Given the description of an element on the screen output the (x, y) to click on. 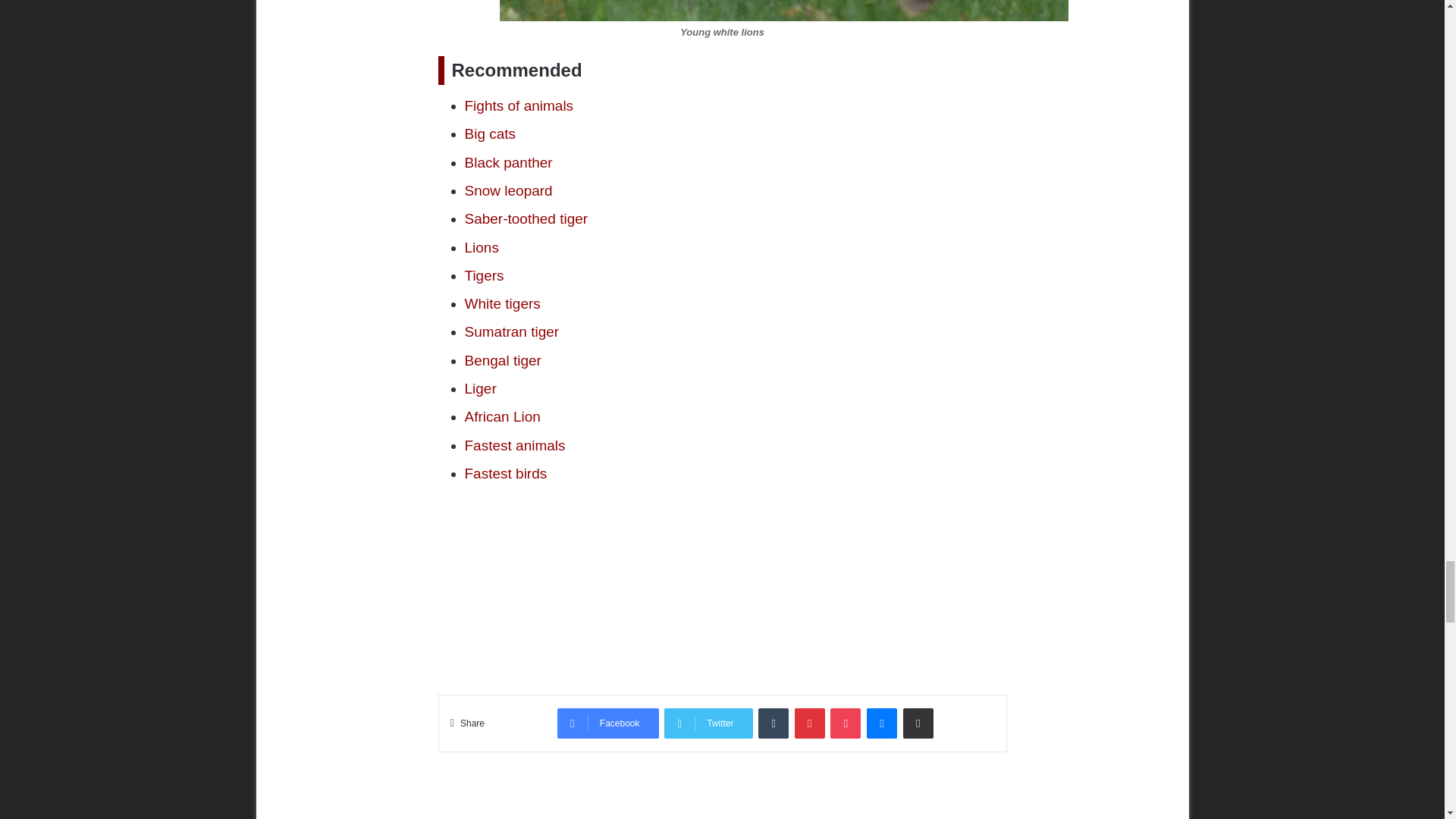
Facebook (608, 723)
Twitter (707, 723)
Pinterest (809, 723)
Tumblr (773, 723)
